Given the description of an element on the screen output the (x, y) to click on. 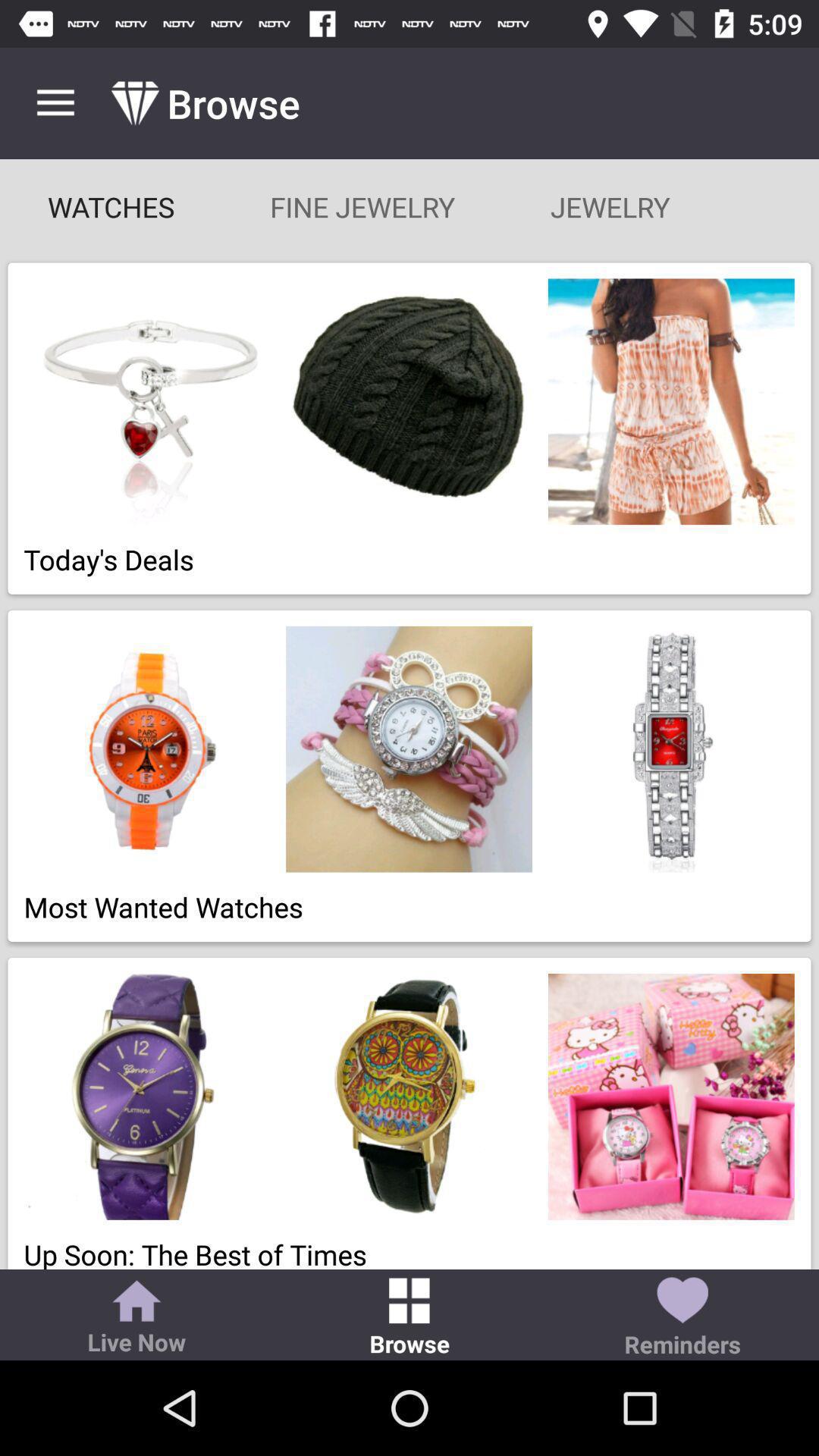
click item to the left of the browse (136, 1318)
